Given the description of an element on the screen output the (x, y) to click on. 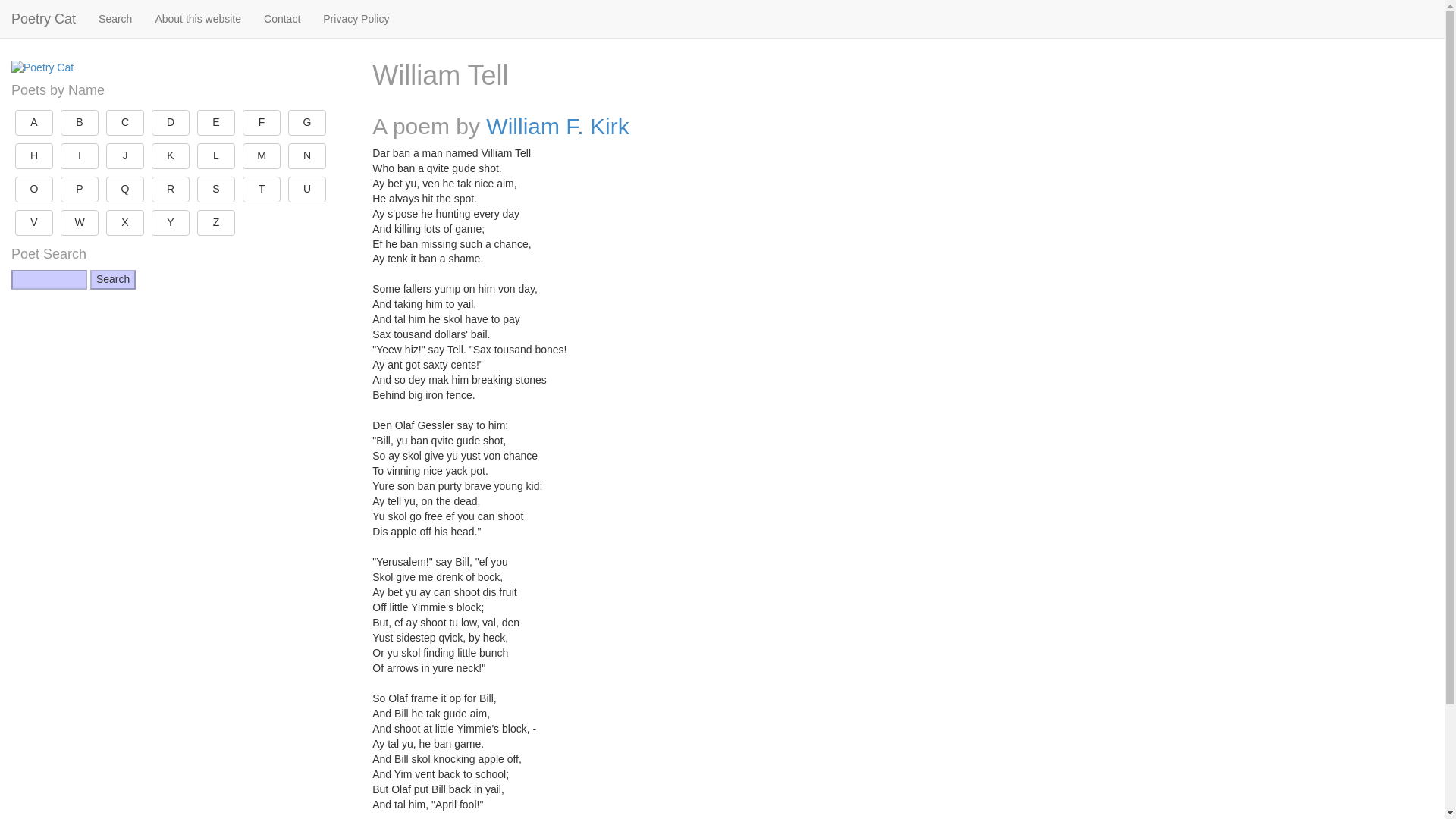
About this website (196, 18)
I (80, 155)
J (125, 155)
Z (215, 222)
Q (125, 189)
Contact (281, 18)
W (80, 222)
N (307, 155)
E (215, 122)
L (215, 155)
